Given the description of an element on the screen output the (x, y) to click on. 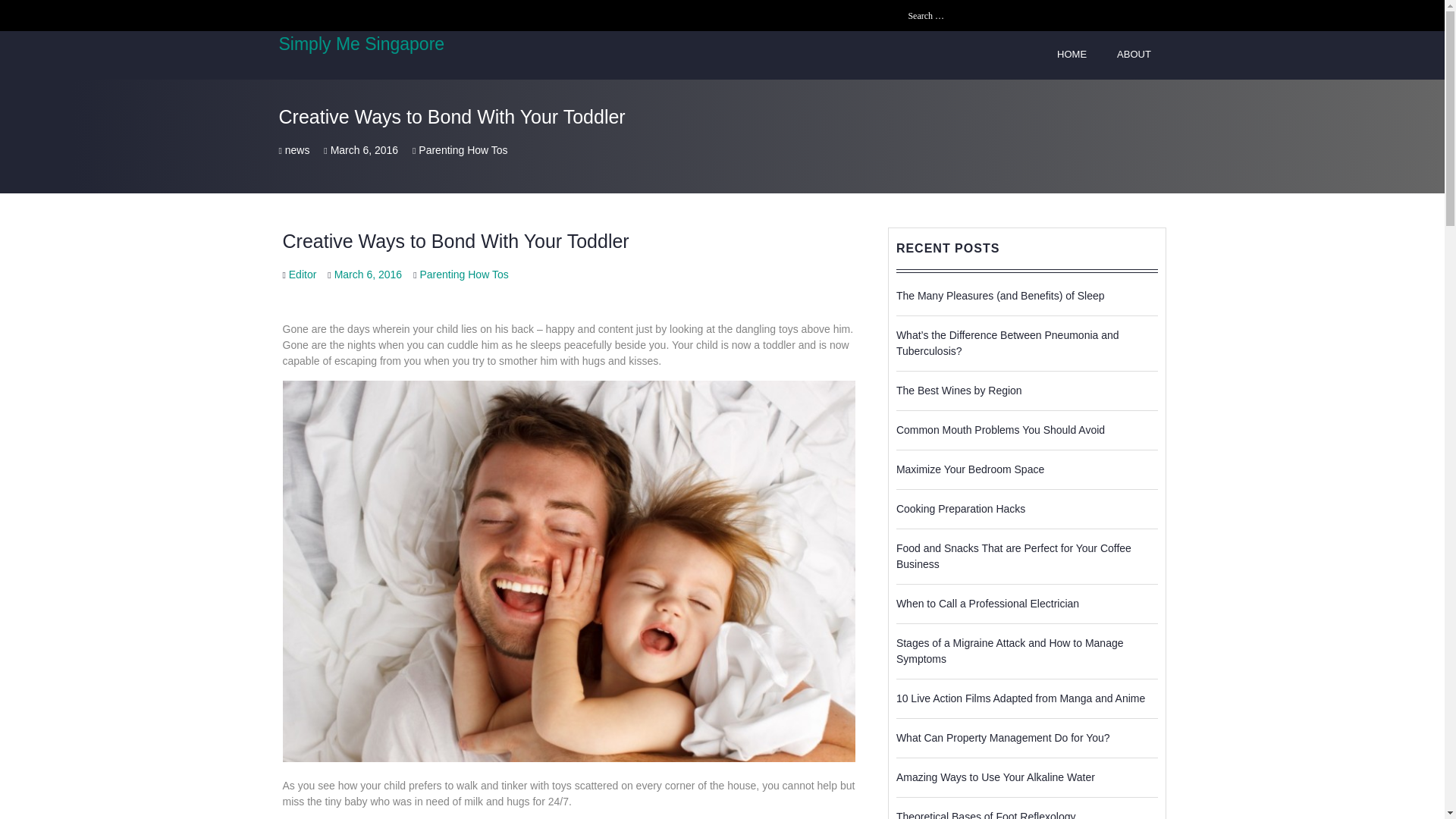
Stages of a Migraine Attack and How to Manage Symptoms (1010, 651)
10 Live Action Films Adapted from Manga and Anime (1020, 697)
Maximize Your Bedroom Space (969, 468)
Theoretical Bases of Foot Reflexology (985, 814)
When to Call a Professional Electrician (987, 603)
Food and Snacks That are Perfect for Your Coffee Business (1013, 555)
news (297, 150)
The Best Wines by Region (959, 389)
Cooking Preparation Hacks (960, 508)
Editor (302, 274)
Simply Me Singapore (362, 44)
Search (1154, 15)
March 6, 2016 (368, 274)
Amazing Ways to Use Your Alkaline Water (995, 776)
Search (1154, 15)
